Given the description of an element on the screen output the (x, y) to click on. 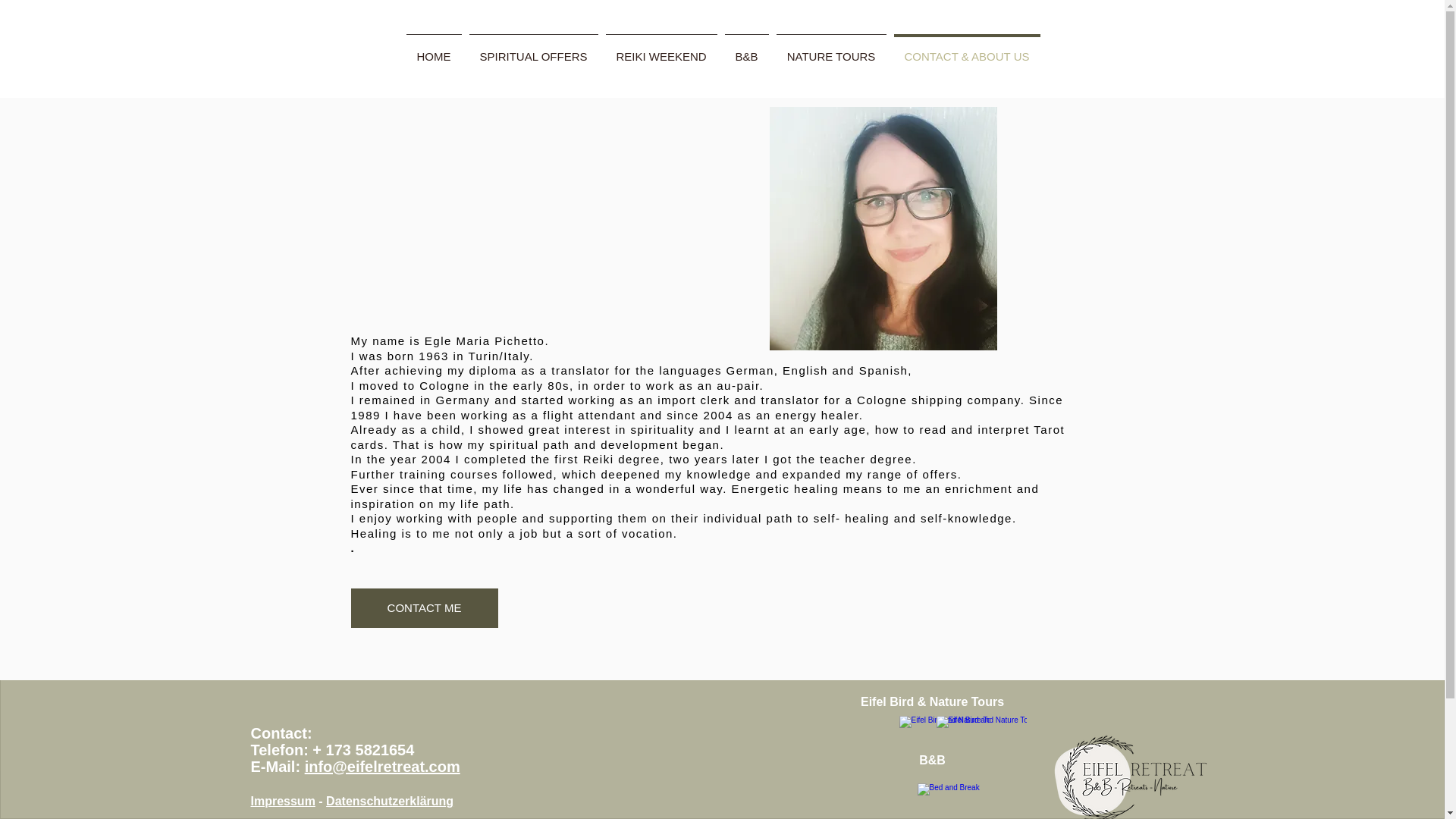
CONTACT ME (423, 608)
Impressum (282, 800)
SPIRITUAL OFFERS (533, 50)
NATURE TOURS (830, 50)
HOME (432, 50)
11.png (1129, 774)
REIKI WEEKEND (661, 50)
